Given the description of an element on the screen output the (x, y) to click on. 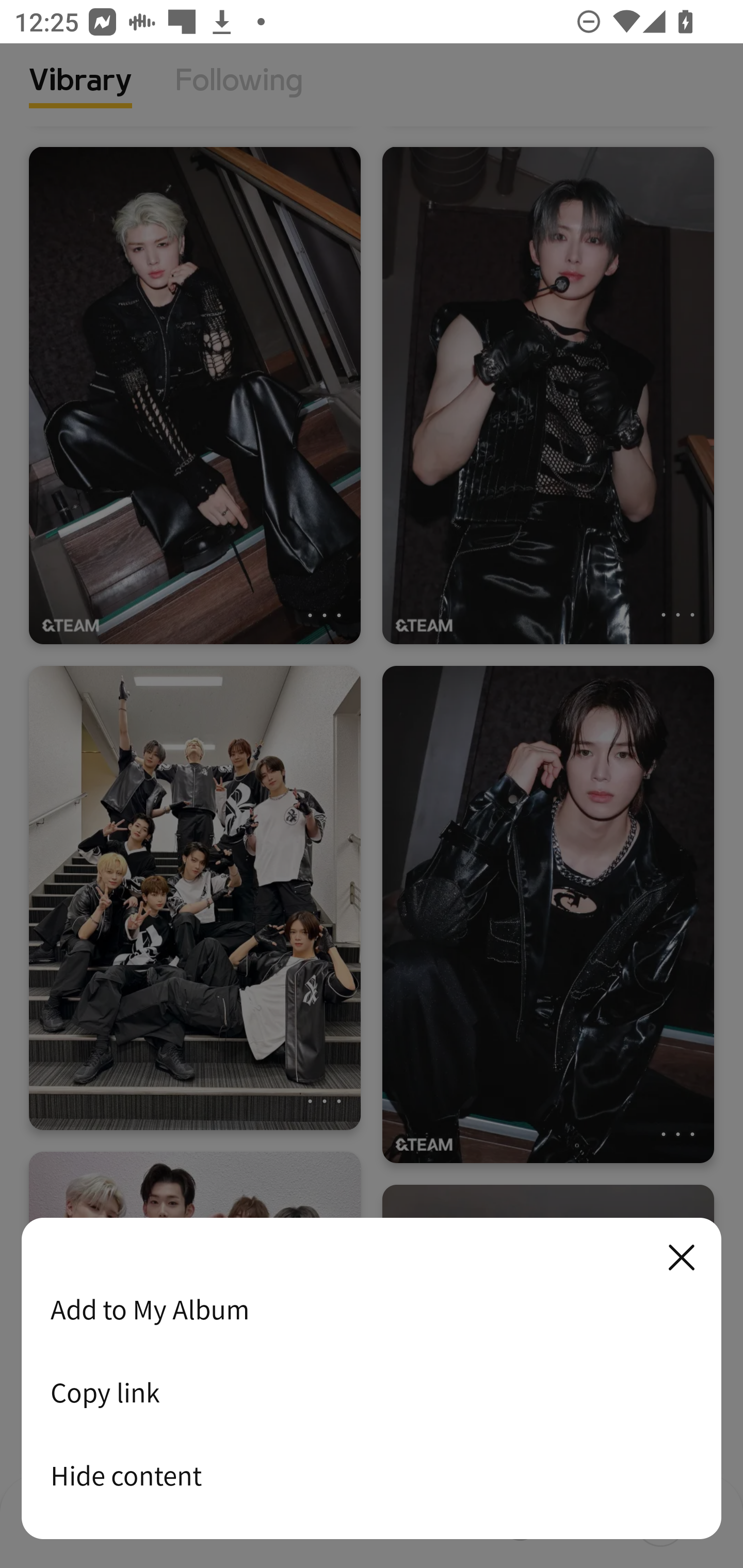
Add to My Album Copy link Hide content (371, 1378)
Add to My Album (371, 1308)
Copy link (371, 1391)
Hide content (371, 1474)
